Given the description of an element on the screen output the (x, y) to click on. 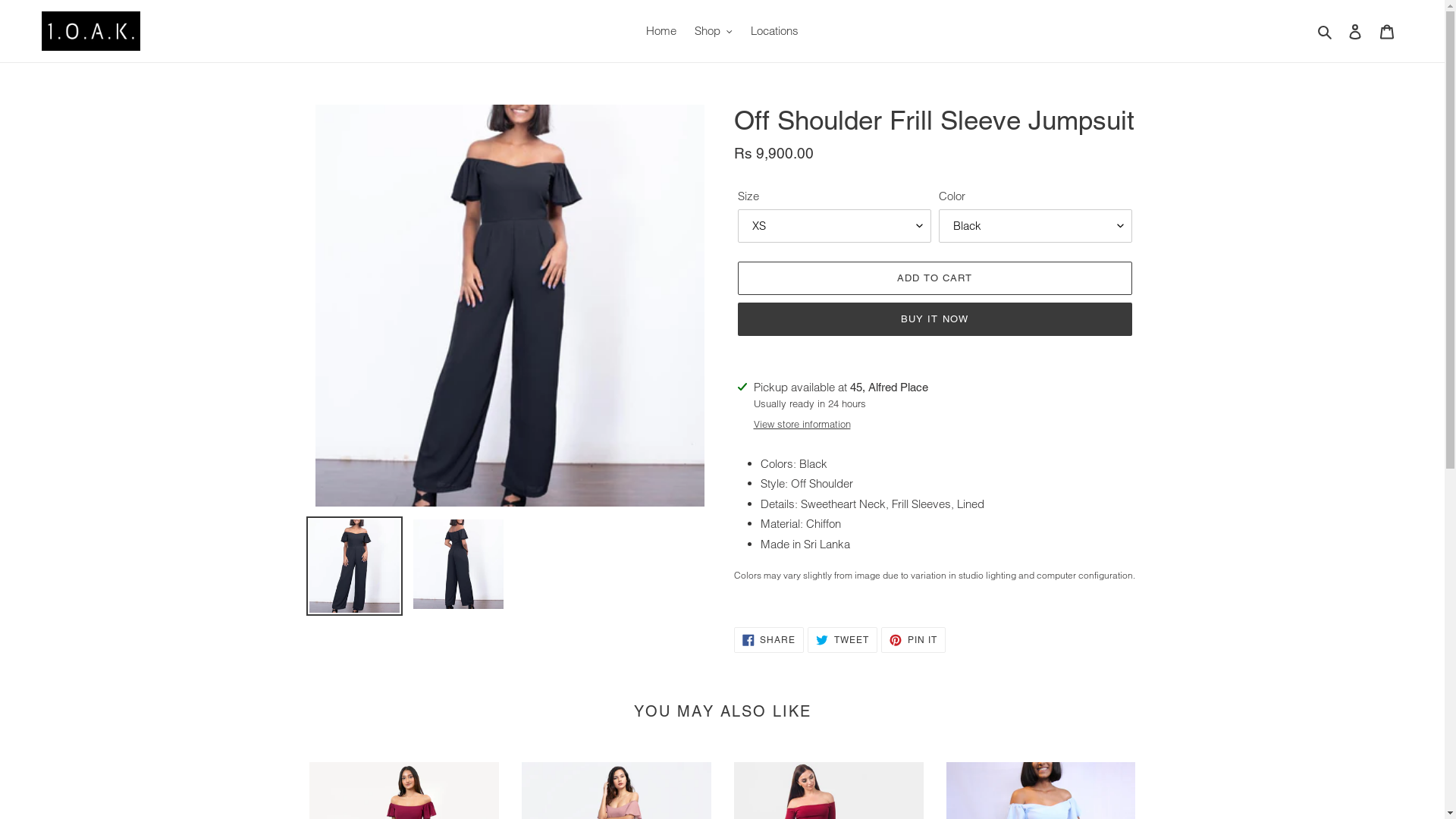
Search Element type: text (1325, 30)
Locations Element type: text (774, 31)
BUY IT NOW Element type: text (934, 318)
PIN IT
PIN ON PINTEREST Element type: text (913, 639)
Home Element type: text (661, 31)
ADD TO CART Element type: text (934, 277)
View store information Element type: text (801, 424)
TWEET
TWEET ON TWITTER Element type: text (842, 639)
SHARE
SHARE ON FACEBOOK Element type: text (769, 639)
Log in Element type: text (1355, 31)
Shop Element type: text (713, 31)
Cart Element type: text (1386, 31)
